Given the description of an element on the screen output the (x, y) to click on. 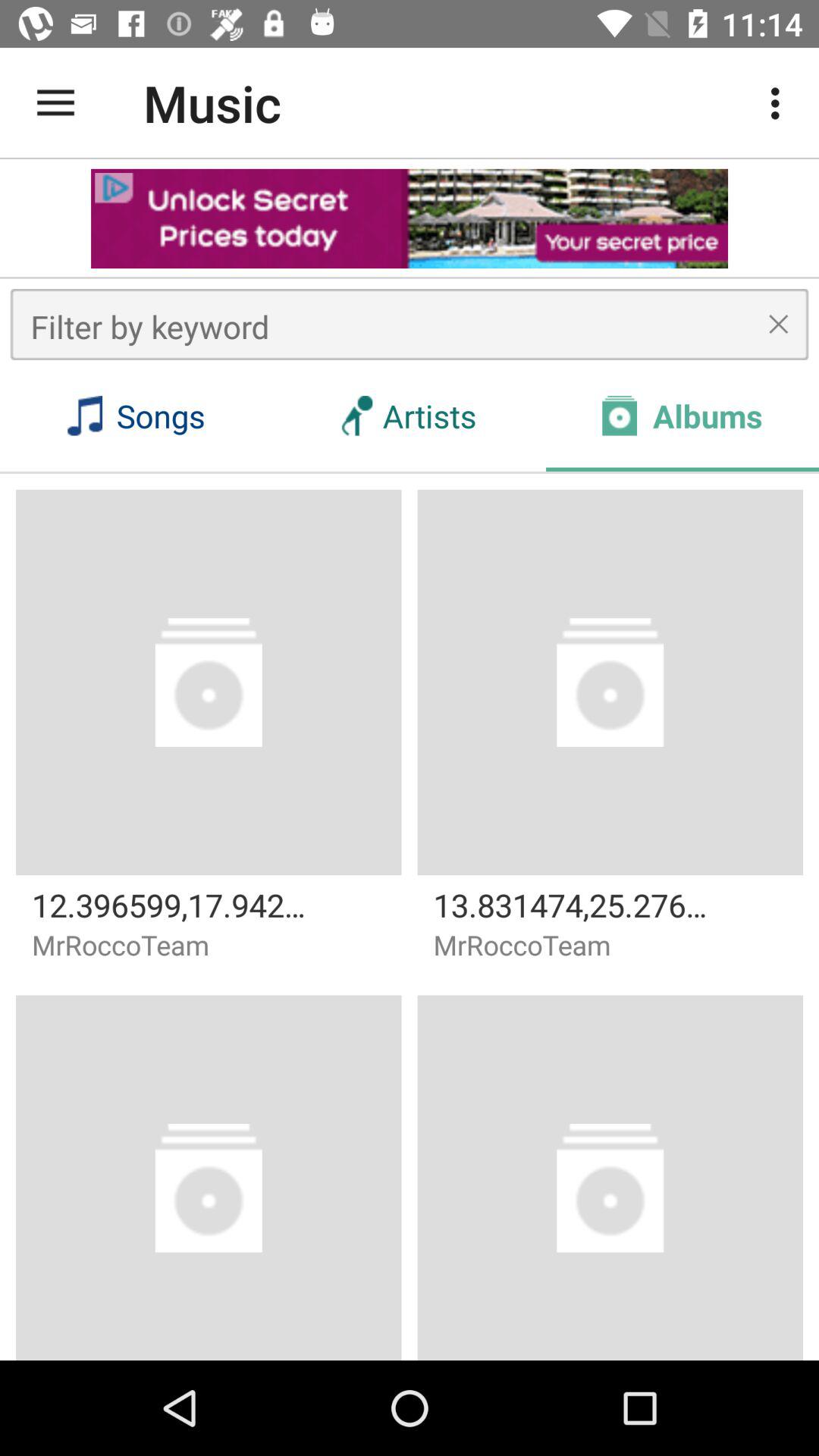
click on the icon in the box below albums (610, 681)
select the image below the tab albums on the web page (610, 682)
go to the box above songs at the top of the page (409, 323)
the cross mark symbol right to the text filter by keyword (778, 323)
click on the icon left to albums (619, 415)
